Given the description of an element on the screen output the (x, y) to click on. 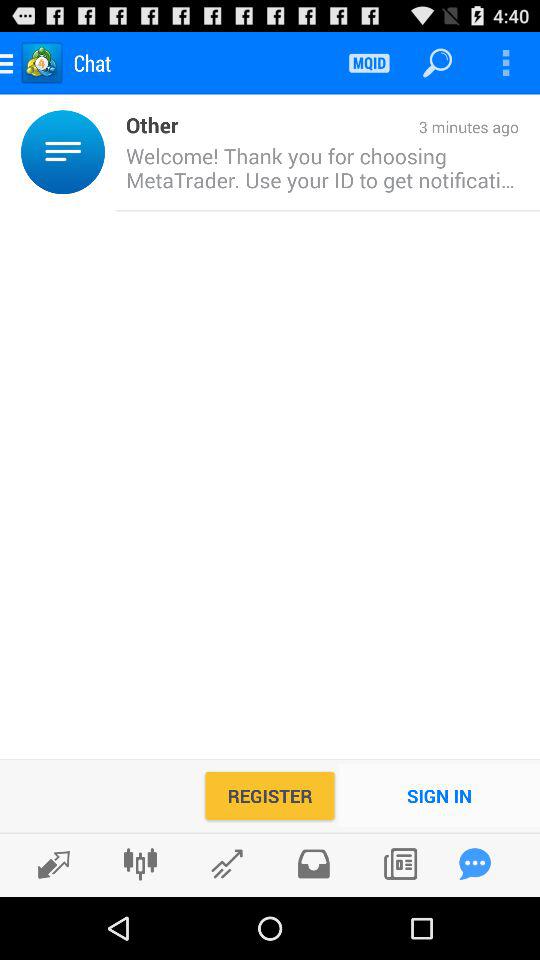
launch icon below chat icon (146, 124)
